Given the description of an element on the screen output the (x, y) to click on. 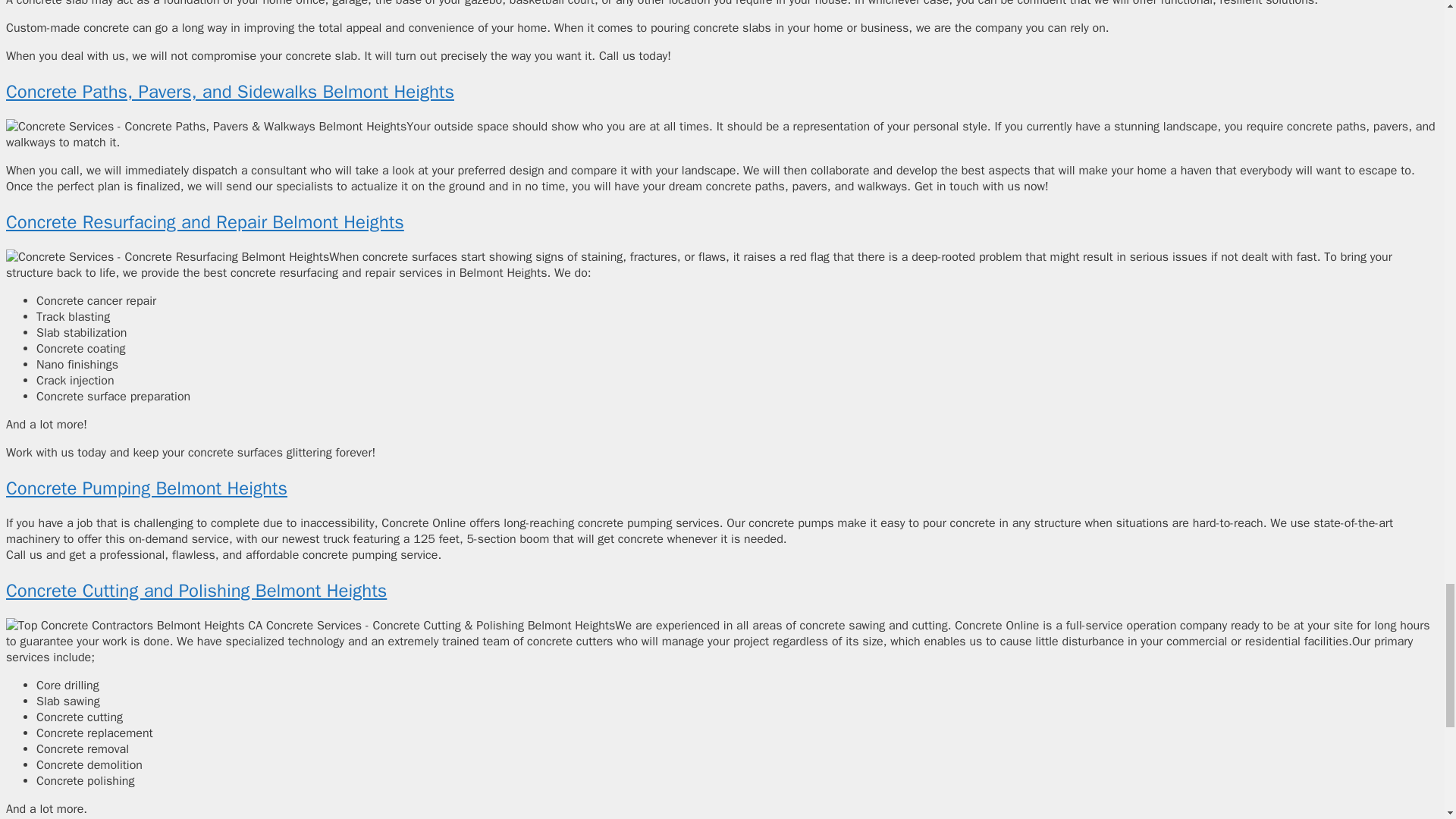
Concrete Cutting and Polishing Belmont Heights (196, 590)
Concrete Resurfacing and Repair Belmont Heights (204, 221)
Concrete Pumping Belmont Heights (145, 487)
Concrete Paths, Pavers, and Sidewalks Belmont Heights (229, 91)
